Given the description of an element on the screen output the (x, y) to click on. 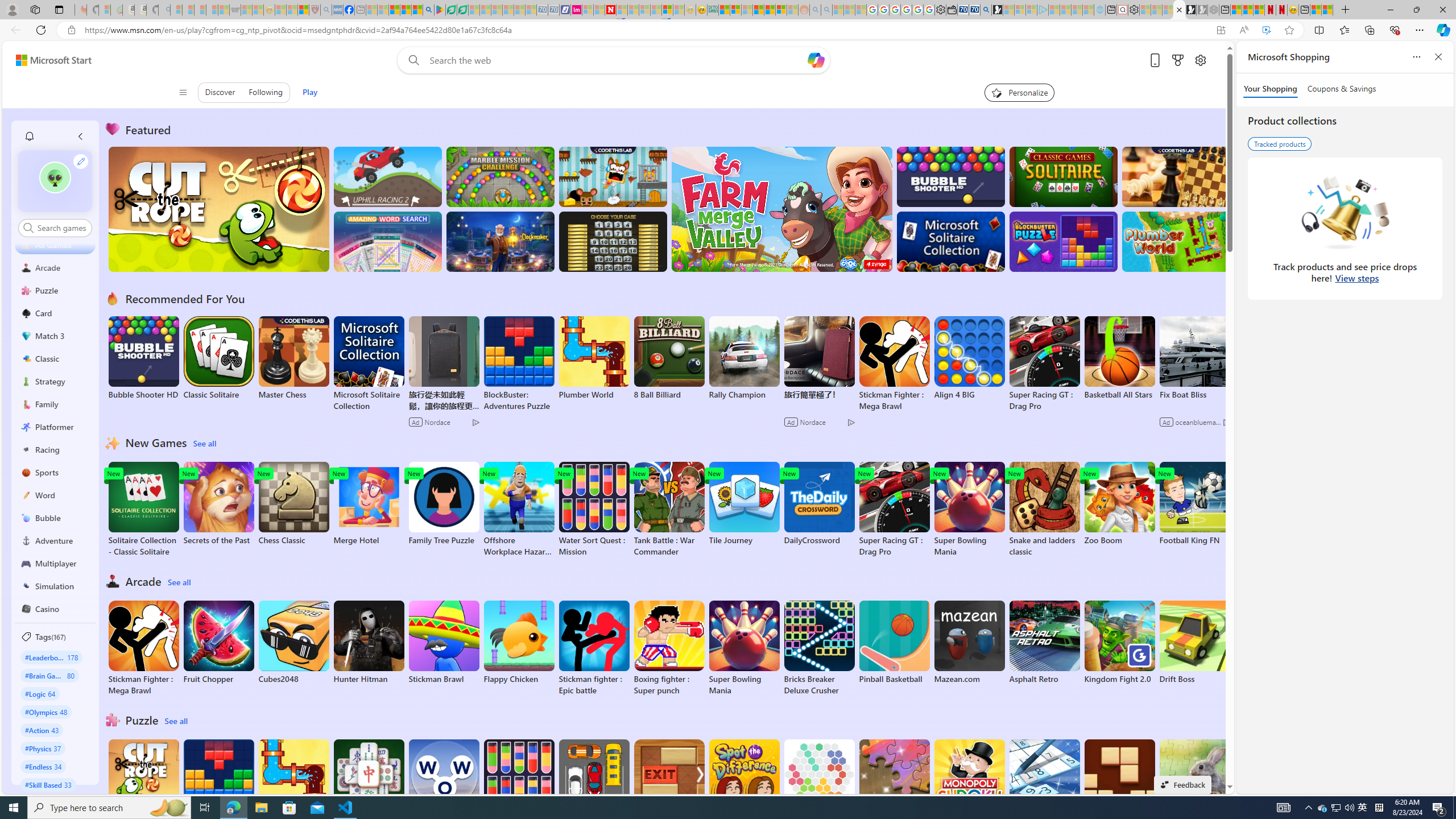
App available. Install Games from Microsoft Start (1220, 29)
#Endless 34 (43, 766)
Tile Journey (744, 503)
Fix Boat Bliss (1194, 394)
Stickman fighter : Epic battle (593, 648)
Zoo Boom (1119, 503)
Bluey: Let's Play! - Apps on Google Play (439, 9)
